Given the description of an element on the screen output the (x, y) to click on. 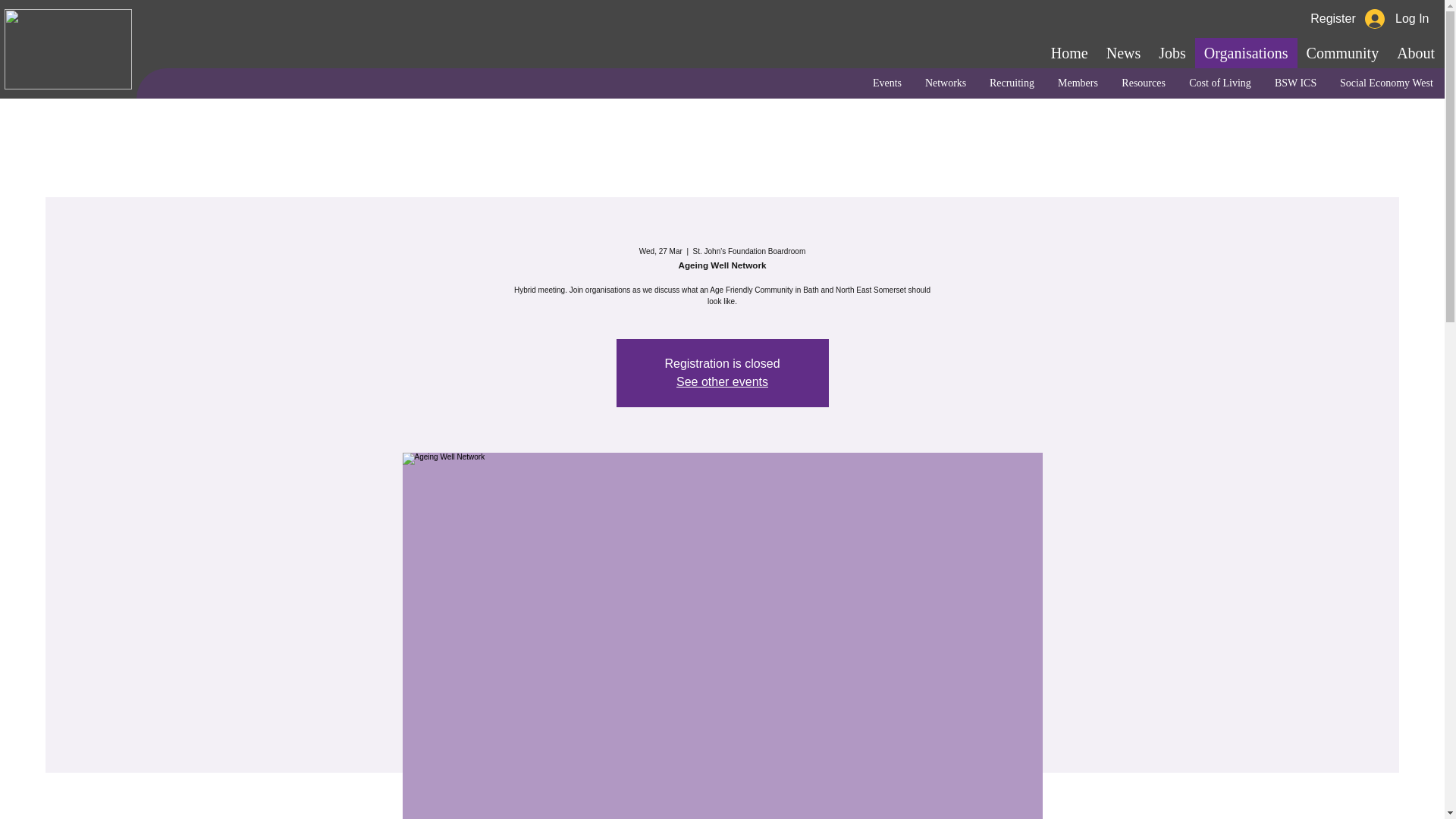
Resources (1142, 82)
Log In (1396, 18)
Members (1077, 82)
Home (1069, 52)
Cost of Living (1219, 82)
News (1123, 52)
Register (1332, 18)
Jobs (1172, 52)
Networks (944, 82)
About (1415, 52)
Events (886, 82)
BSW ICS (1294, 82)
Recruiting (1010, 82)
